Given the description of an element on the screen output the (x, y) to click on. 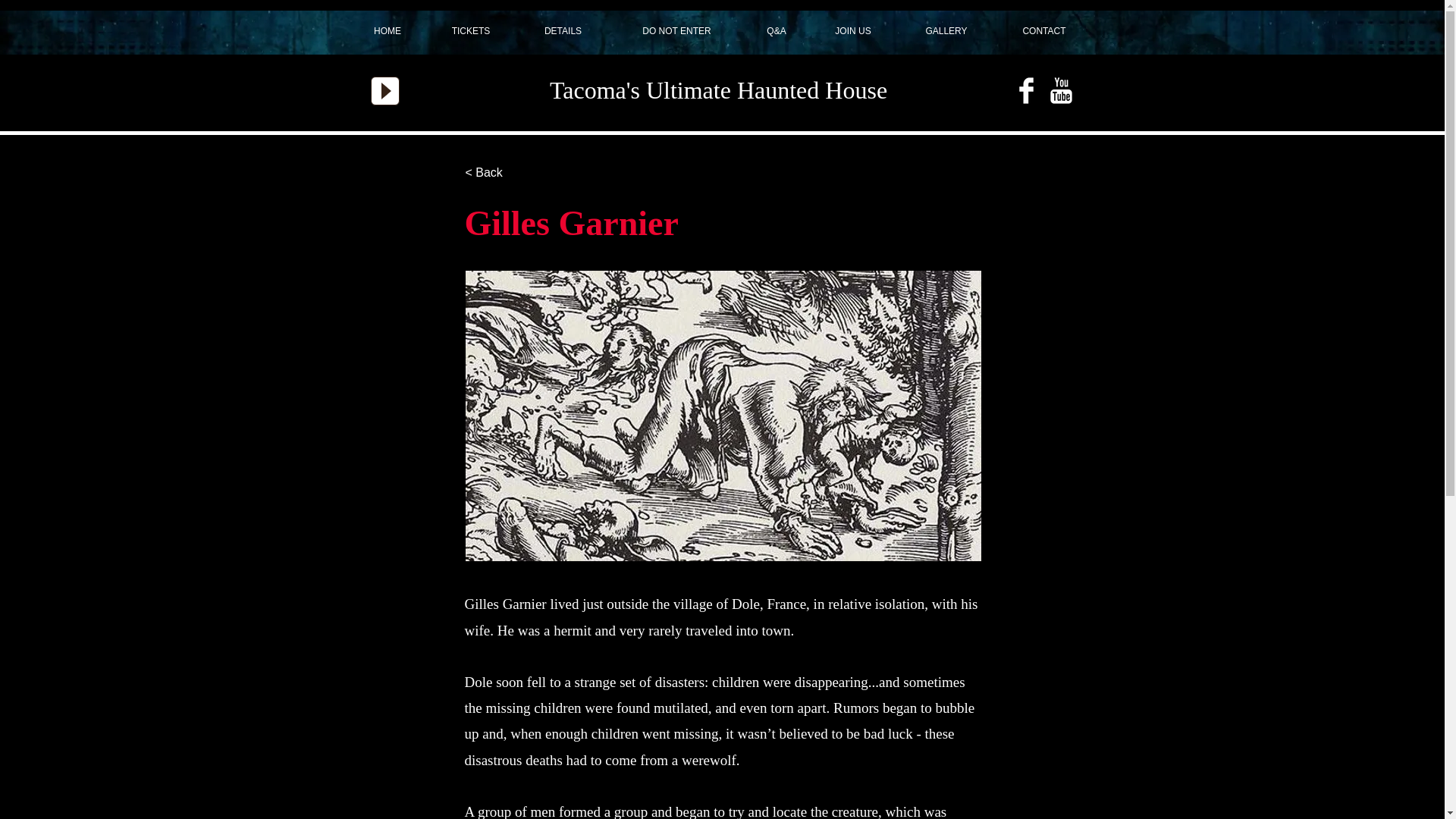
DETAILS (562, 31)
GALLERY (946, 31)
CONTACT (1044, 31)
HOME (386, 31)
JOIN US (853, 31)
TICKETS (471, 31)
DO NOT ENTER (676, 31)
